Given the description of an element on the screen output the (x, y) to click on. 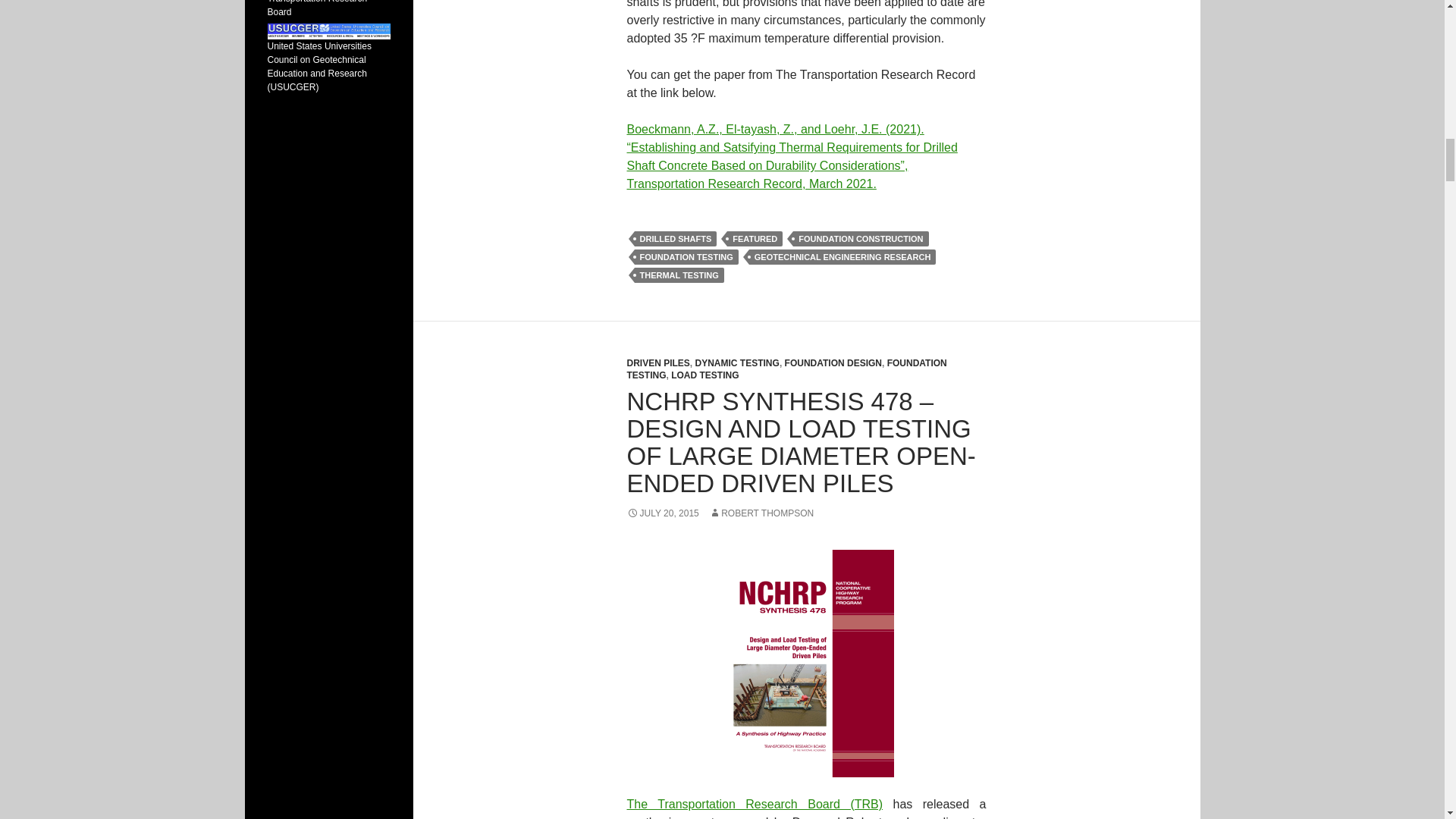
GEOTECHNICAL ENGINEERING RESEARCH (842, 256)
DYNAMIC TESTING (736, 362)
FOUNDATION TESTING (685, 256)
JULY 20, 2015 (662, 512)
DRILLED SHAFTS (674, 238)
FOUNDATION CONSTRUCTION (860, 238)
DRIVEN PILES (657, 362)
FOUNDATION TESTING (786, 368)
LOAD TESTING (704, 375)
ROBERT THOMPSON (761, 512)
